Given the description of an element on the screen output the (x, y) to click on. 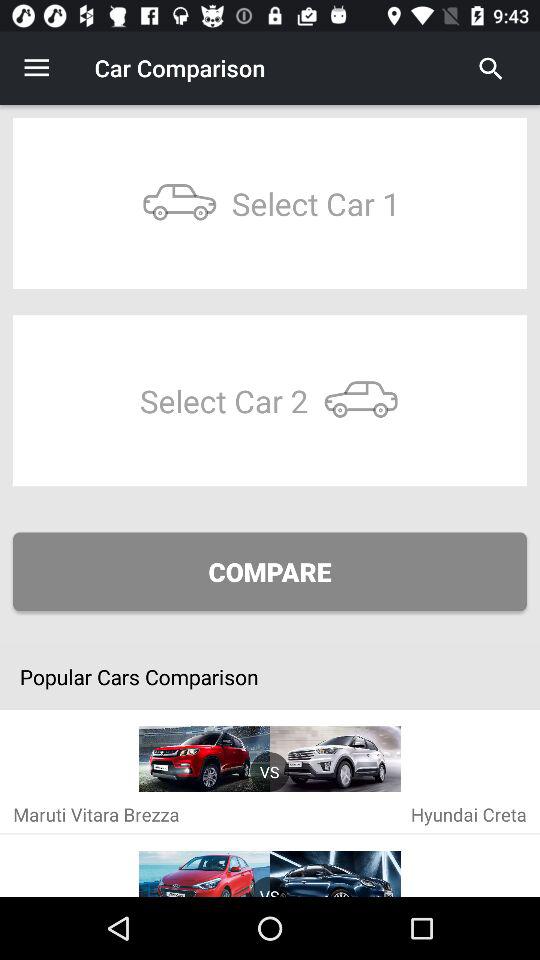
jump until compare icon (269, 571)
